Given the description of an element on the screen output the (x, y) to click on. 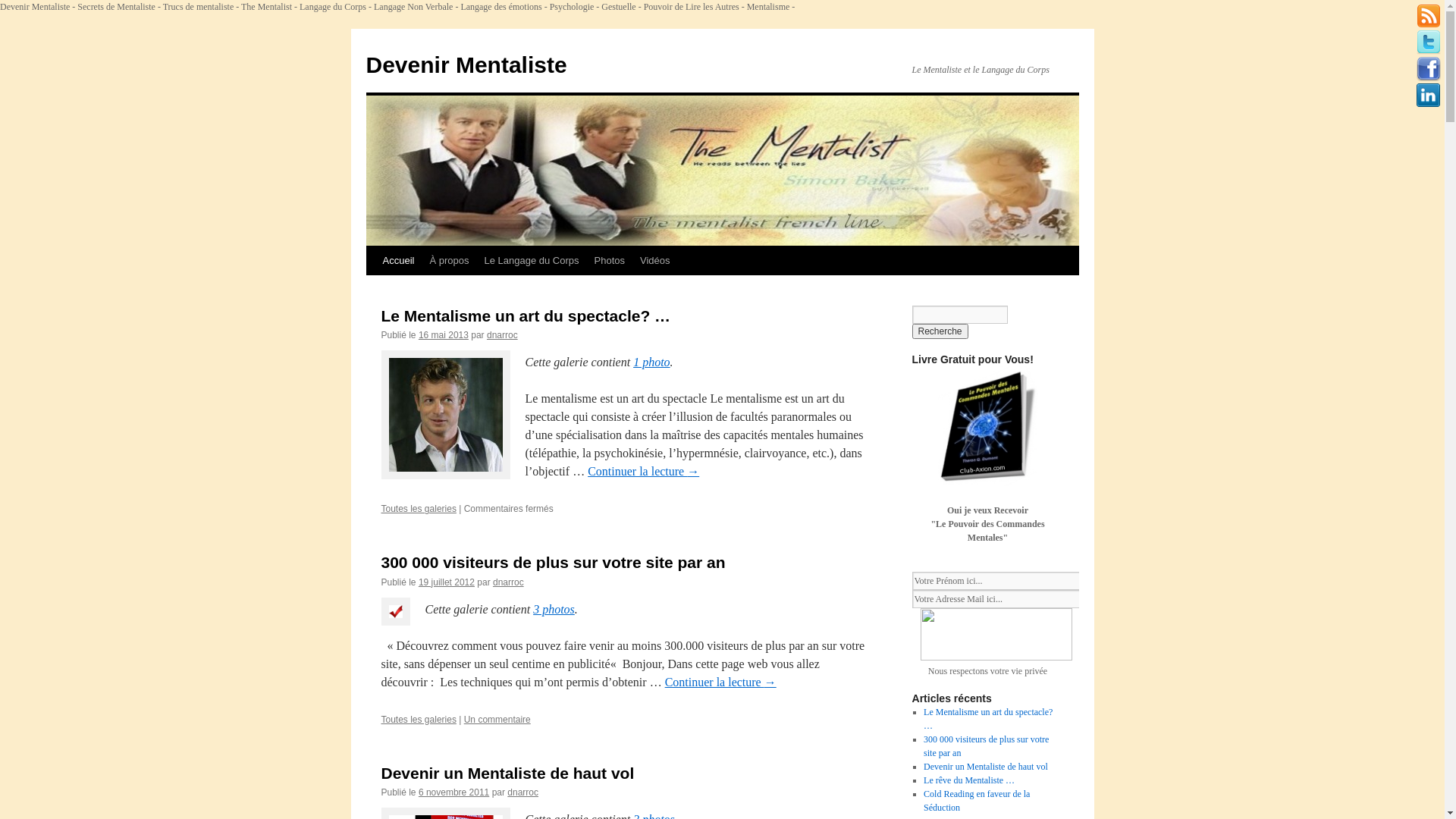
1 photo Element type: text (651, 361)
Recherche Element type: text (939, 330)
Rss Feed Element type: text (1428, 15)
16 mai 2013 Element type: text (443, 334)
dnarroc Element type: text (501, 334)
Devenir un Mentaliste de haut vol Element type: text (506, 772)
19 juillet 2012 Element type: text (446, 582)
Tweeter button Element type: text (1428, 42)
Devenir Mentaliste Element type: text (465, 64)
Linkedin button Element type: text (1428, 95)
Facebook button Element type: text (1428, 68)
6 novembre 2011 Element type: text (453, 792)
Devenir un Mentaliste de haut vol Element type: text (985, 766)
300 000 visiteurs de plus sur votre site par an Element type: text (985, 746)
300 000 visiteurs de plus sur votre site par an Element type: text (552, 562)
Toutes les galeries Element type: text (417, 508)
Photos Element type: text (609, 260)
Un commentaire Element type: text (497, 719)
Toutes les galeries Element type: text (417, 719)
dnarroc Element type: text (508, 582)
Le Langage du Corps Element type: text (531, 260)
Accueil Element type: text (397, 260)
3 photos Element type: text (553, 608)
dnarroc Element type: text (522, 792)
